Given the description of an element on the screen output the (x, y) to click on. 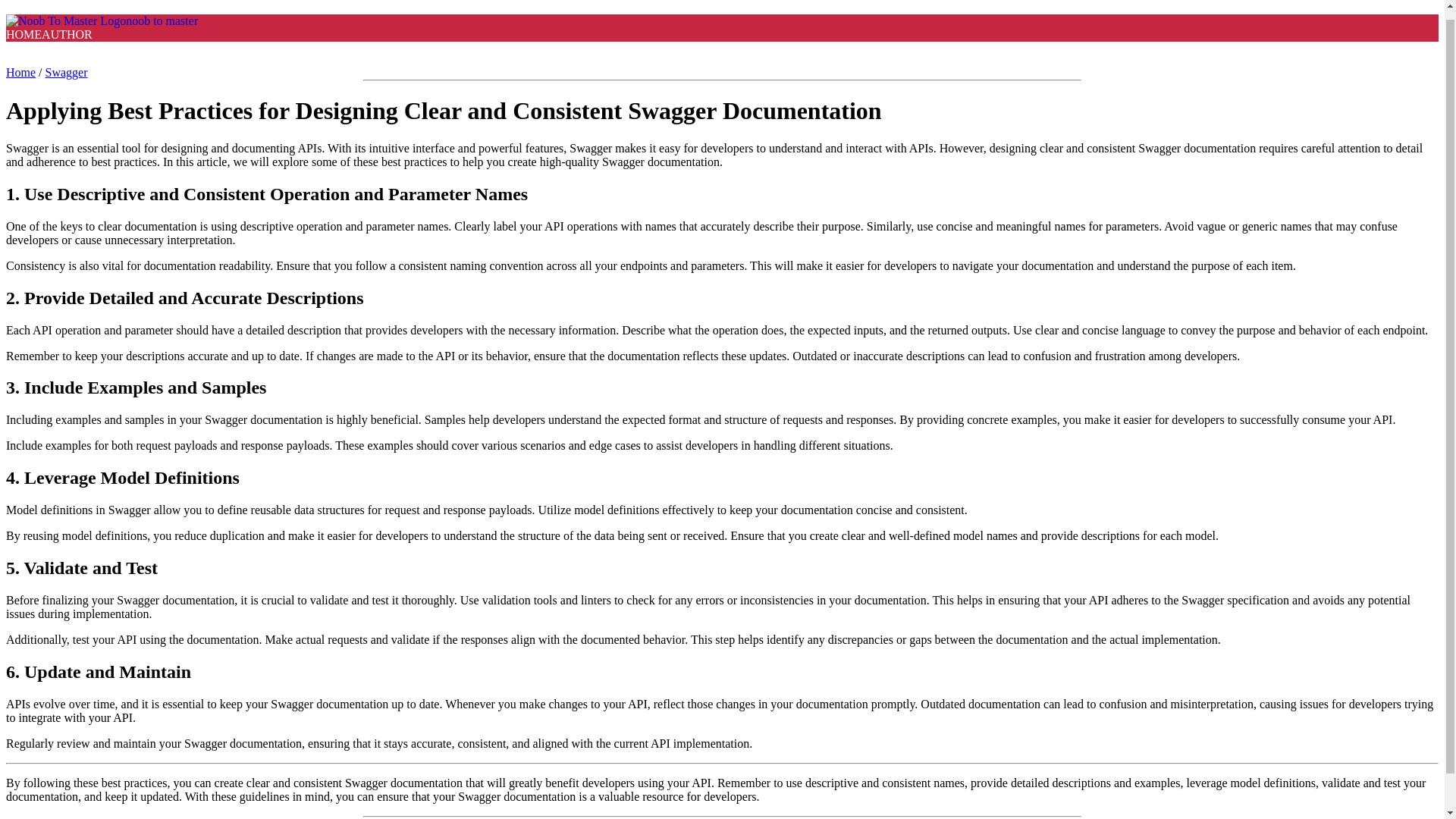
HOME (23, 33)
Swagger (66, 72)
Home (19, 72)
noob to master (101, 20)
AUTHOR (67, 33)
